Given the description of an element on the screen output the (x, y) to click on. 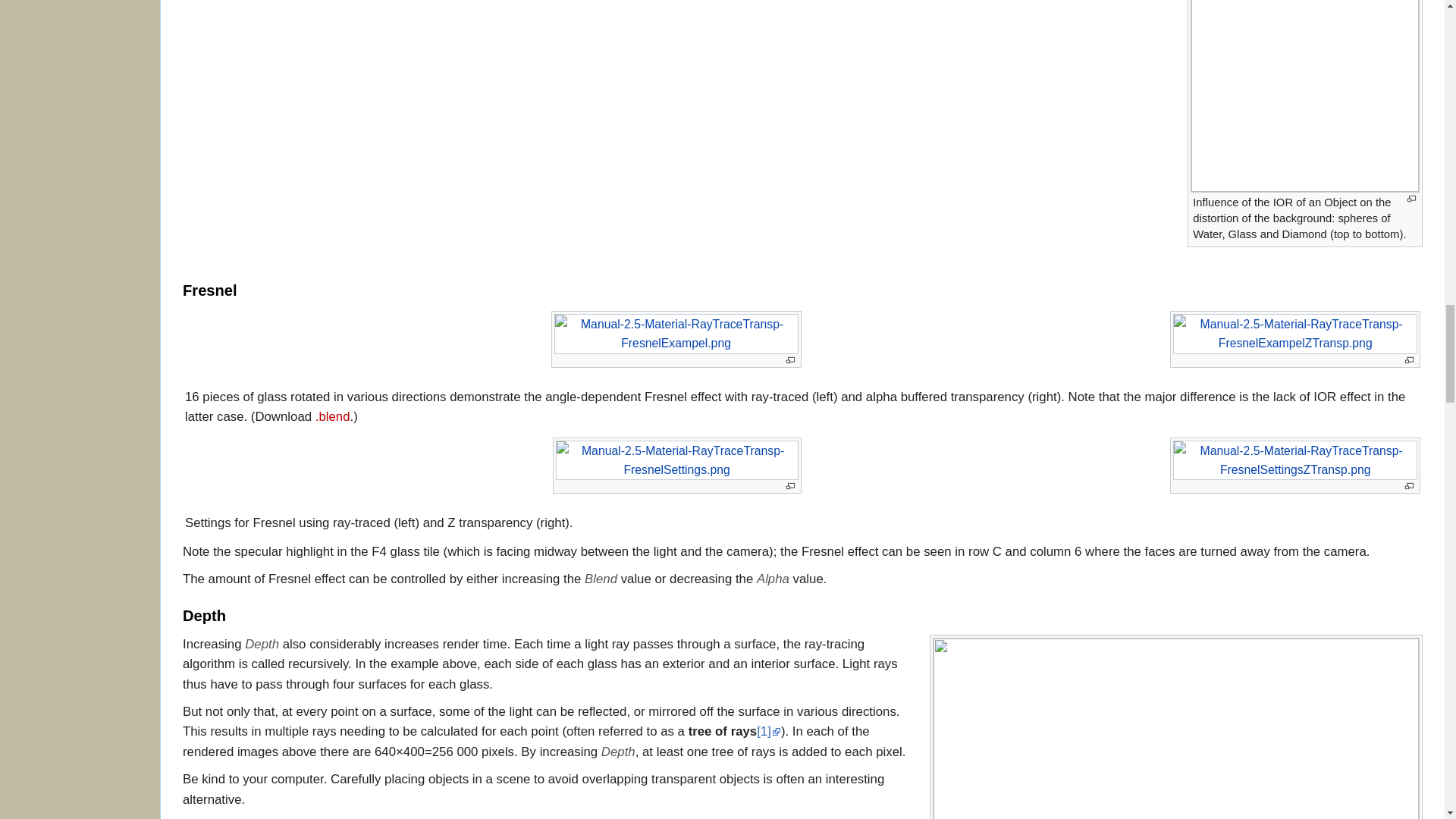
.blend (332, 416)
